Given the description of an element on the screen output the (x, y) to click on. 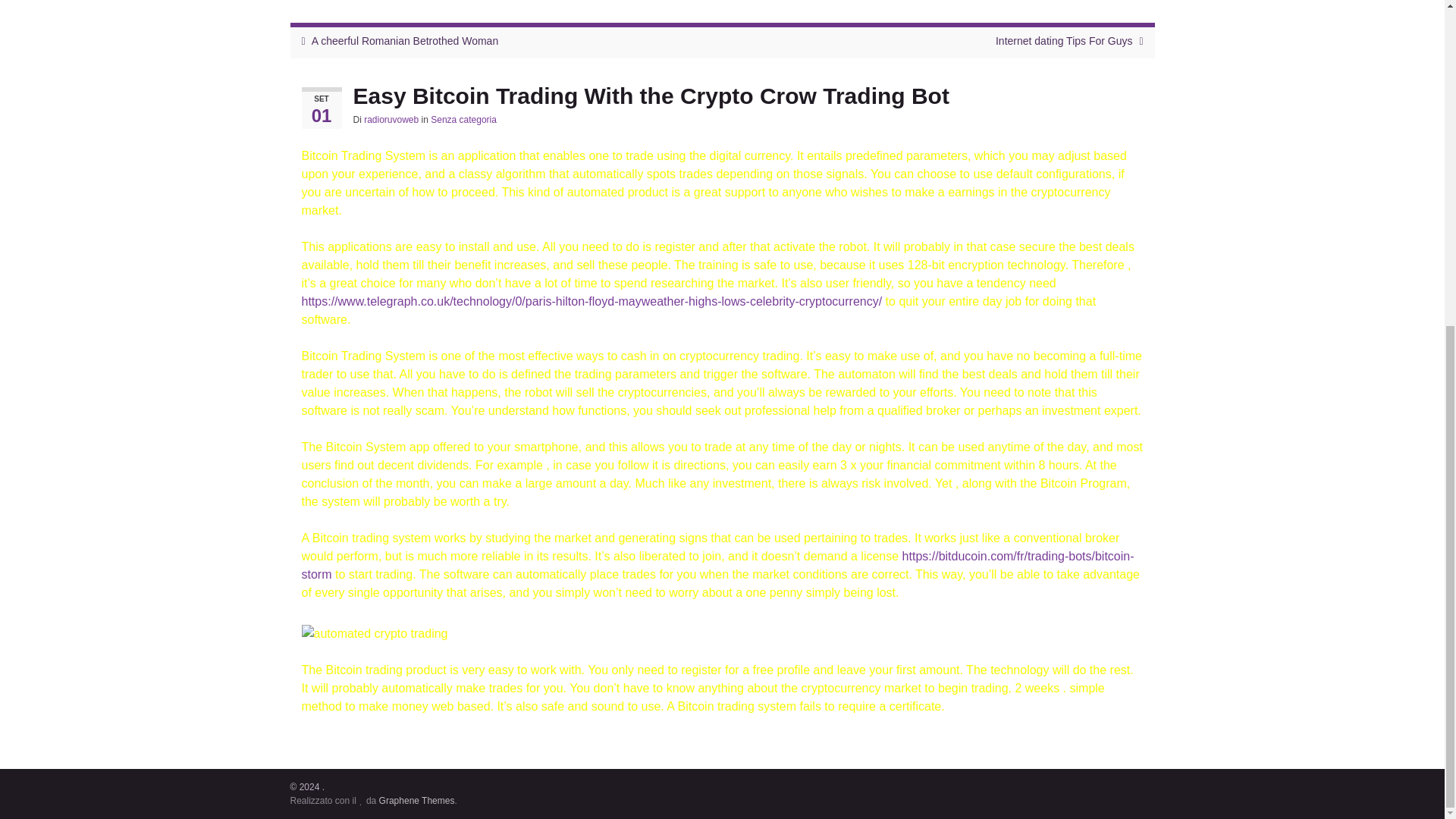
Graphene Themes (416, 800)
A cheerful Romanian Betrothed Woman (404, 40)
Senza categoria (463, 119)
Internet dating Tips For Guys (1063, 40)
radioruvoweb (391, 119)
